Given the description of an element on the screen output the (x, y) to click on. 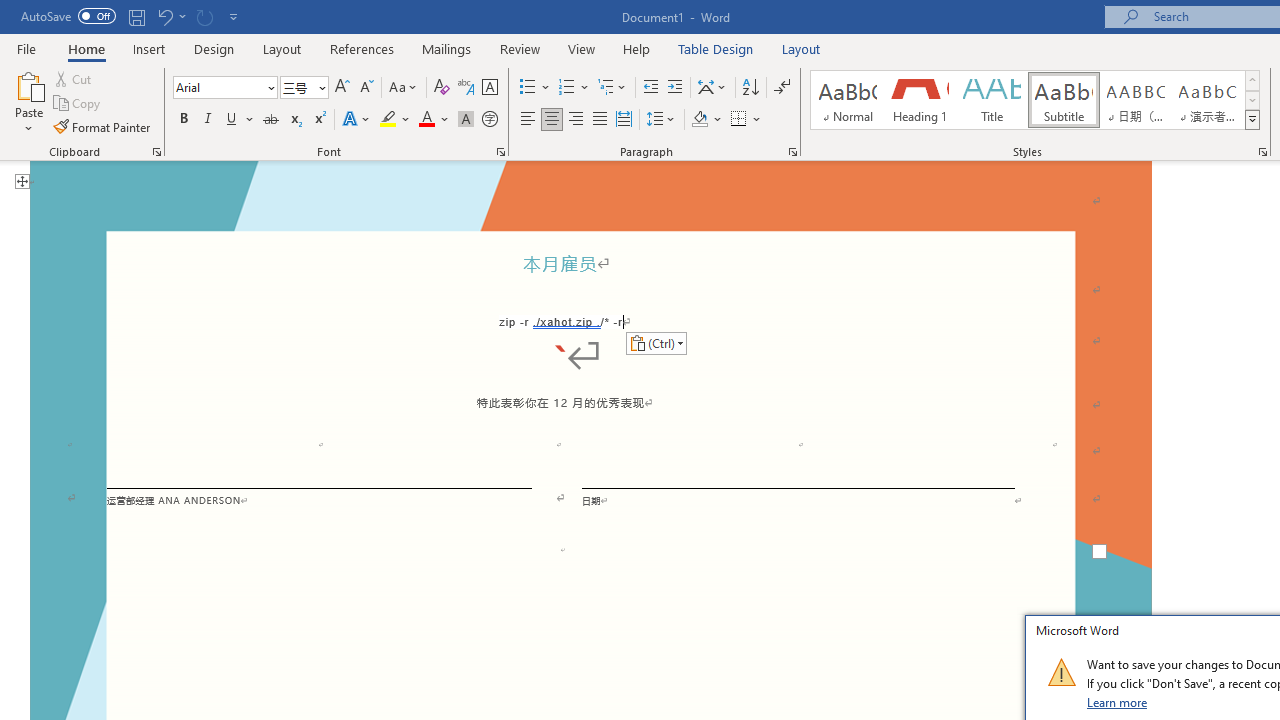
Undo Paste (170, 15)
